Given the description of an element on the screen output the (x, y) to click on. 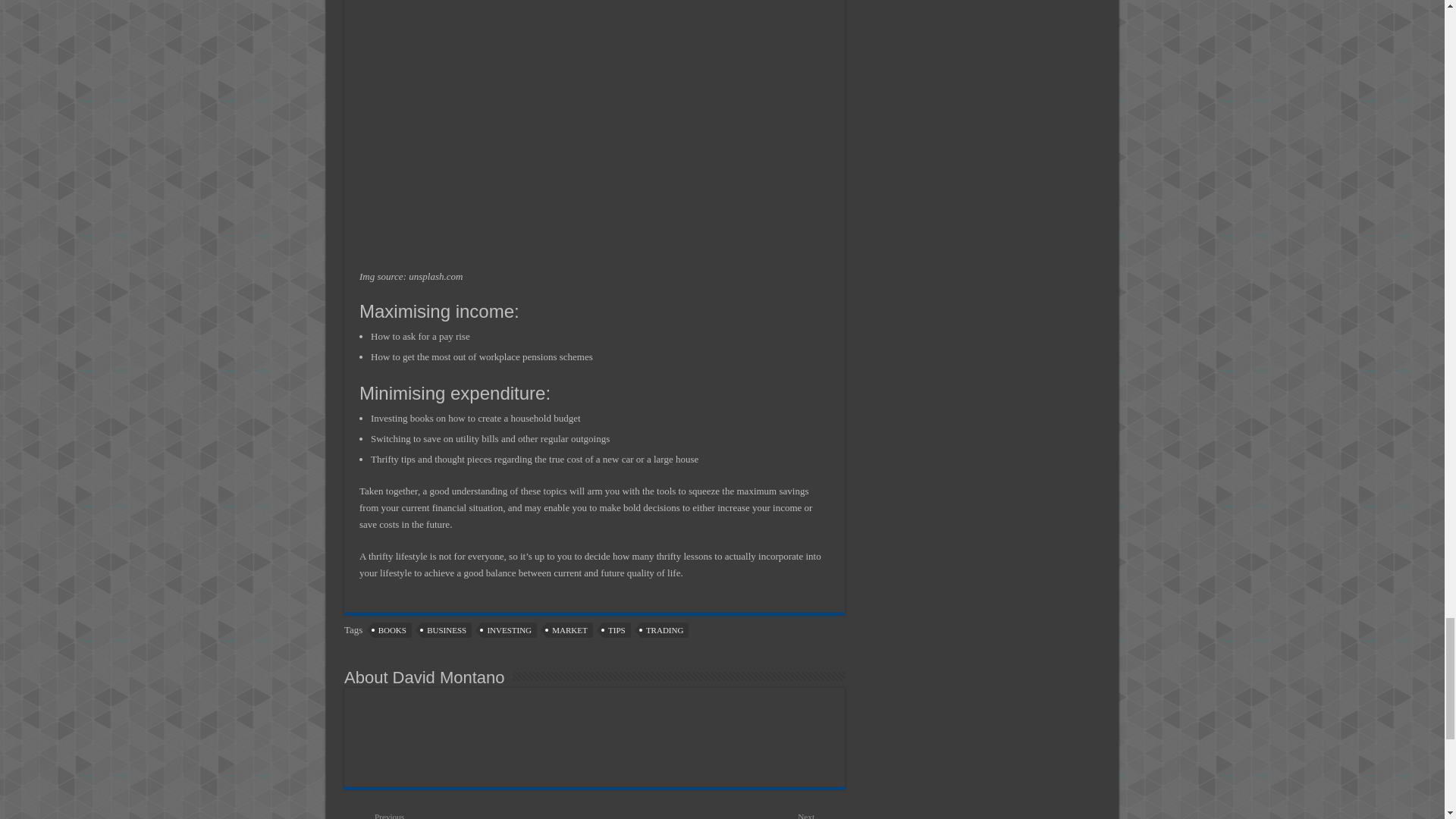
INVESTING (509, 630)
BUSINESS (446, 630)
TRADING (664, 630)
BOOKS (392, 630)
MARKET (569, 630)
TIPS (616, 630)
